Given the description of an element on the screen output the (x, y) to click on. 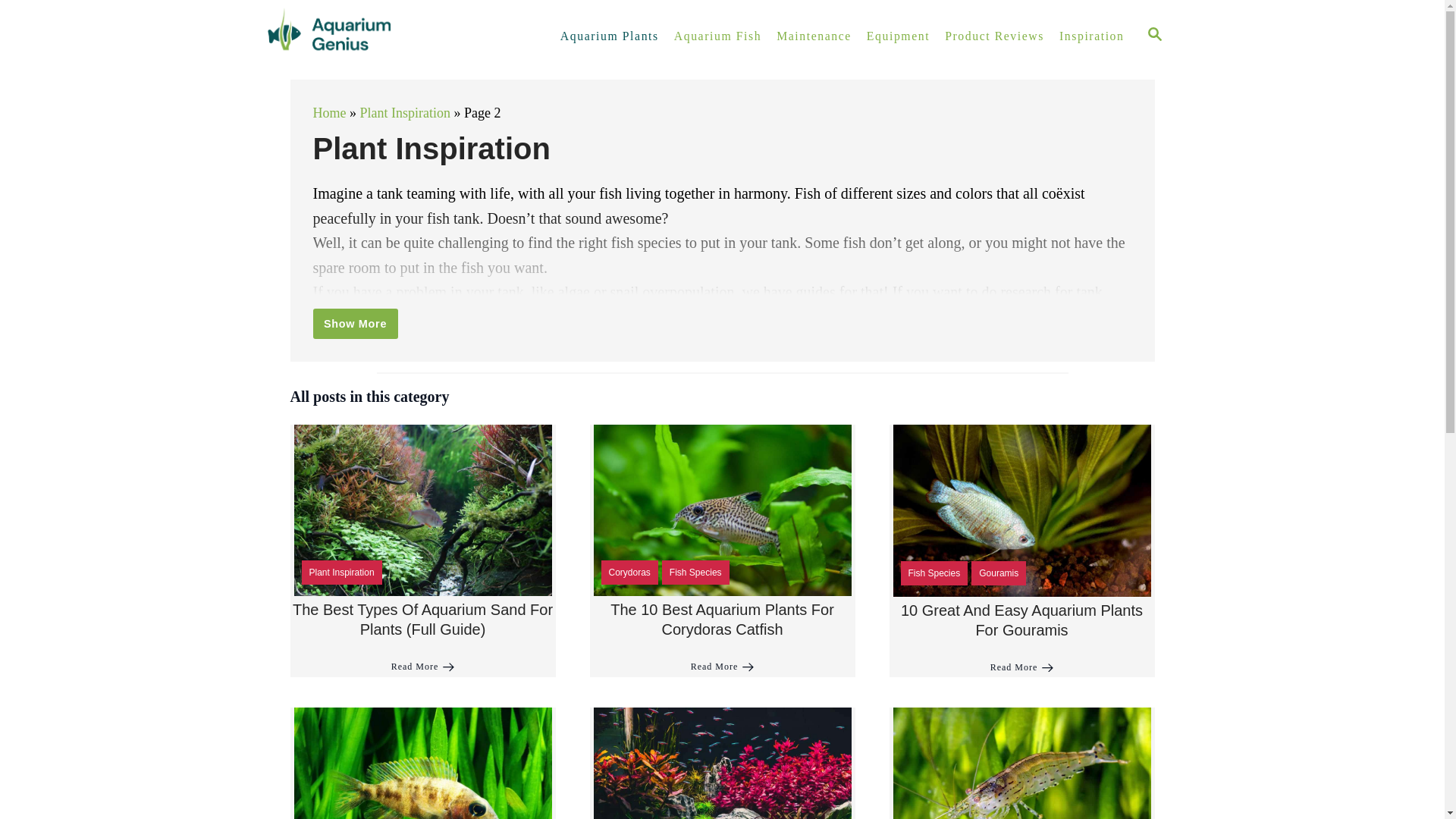
Maintenance (813, 36)
Aquarium Plants (609, 36)
Aquarium Fish (717, 36)
Aquarium Genius (394, 36)
Equipment (898, 36)
SEARCH (1154, 35)
Product Reviews (994, 36)
